Given the description of an element on the screen output the (x, y) to click on. 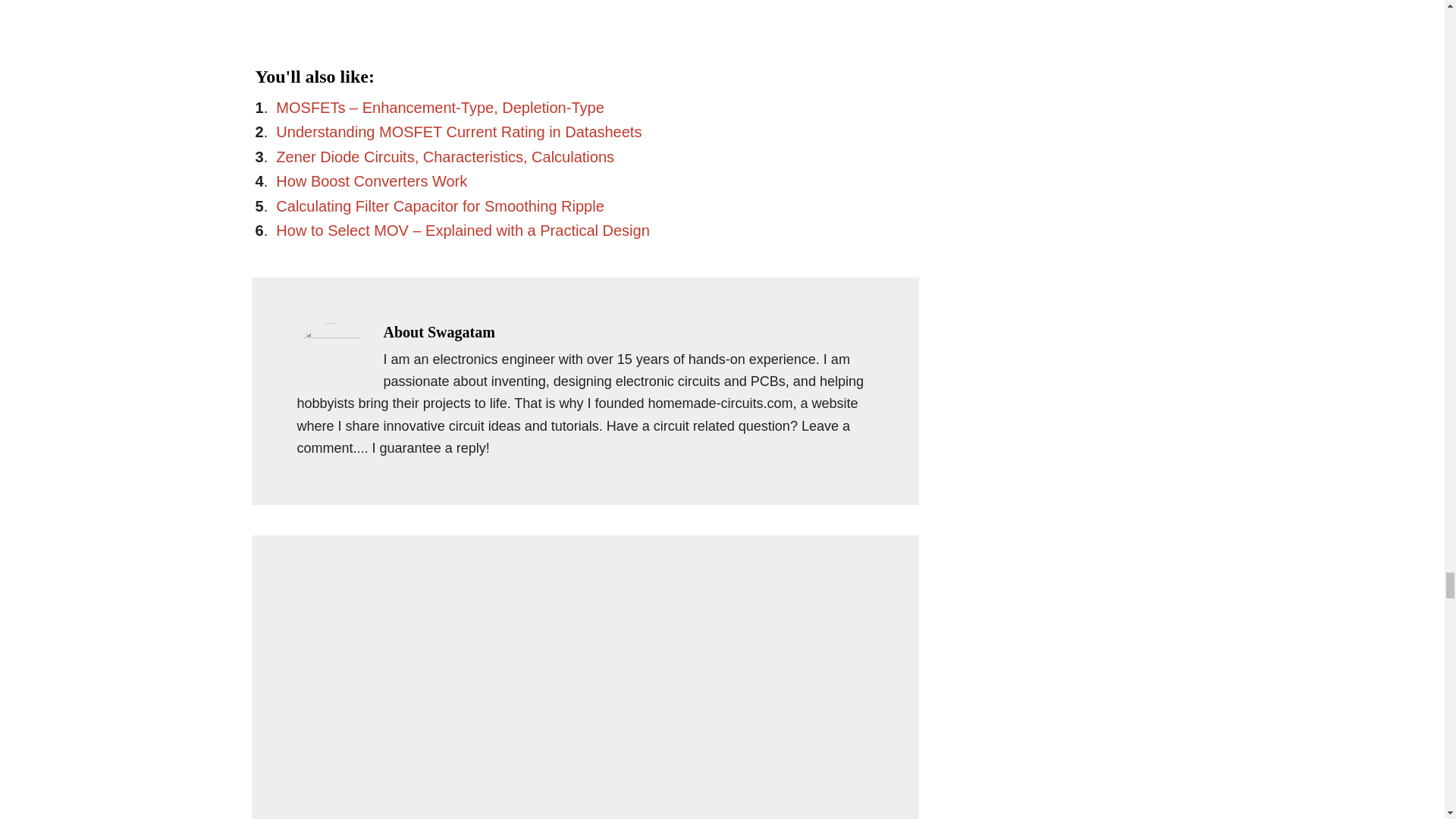
How Boost Converters Work (371, 180)
Understanding MOSFET Current Rating in Datasheets (459, 131)
Permanent Link toHow Boost Converters Work (371, 180)
Zener Diode Circuits, Characteristics, Calculations (445, 156)
Calculating Filter Capacitor for Smoothing Ripple (440, 206)
